Given the description of an element on the screen output the (x, y) to click on. 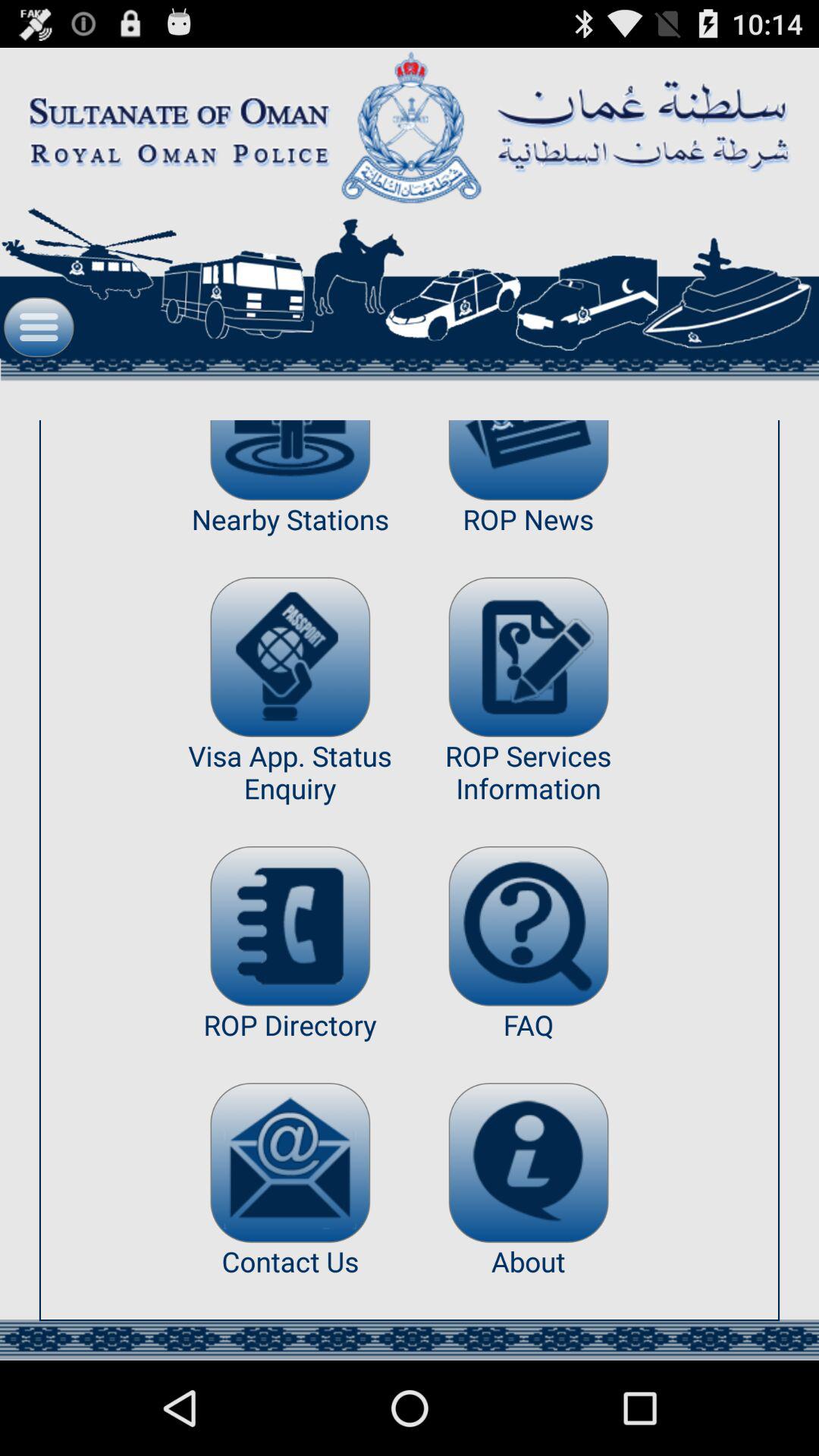
open icon at the top left corner (38, 327)
